Given the description of an element on the screen output the (x, y) to click on. 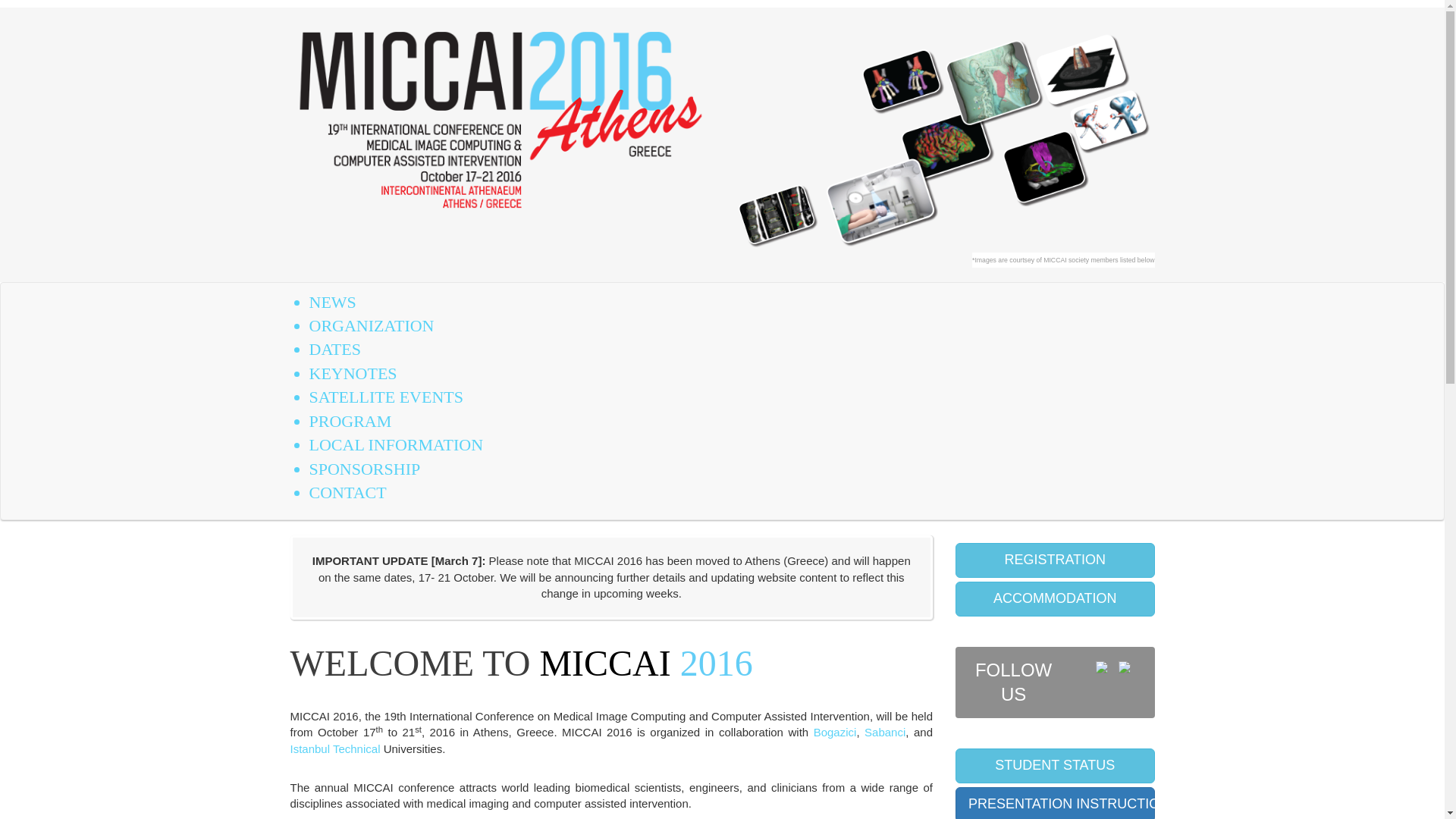
CONTACT (347, 492)
PRESENTATION INSTRUCTIONS (1054, 803)
SPONSORSHIP (364, 468)
PROGRAM (349, 420)
ORGANIZATION (370, 325)
Sabanci (884, 731)
KEYNOTES (352, 373)
STUDENT STATUS (1054, 765)
Istanbul Technical (334, 748)
DATES (334, 348)
